Given the description of an element on the screen output the (x, y) to click on. 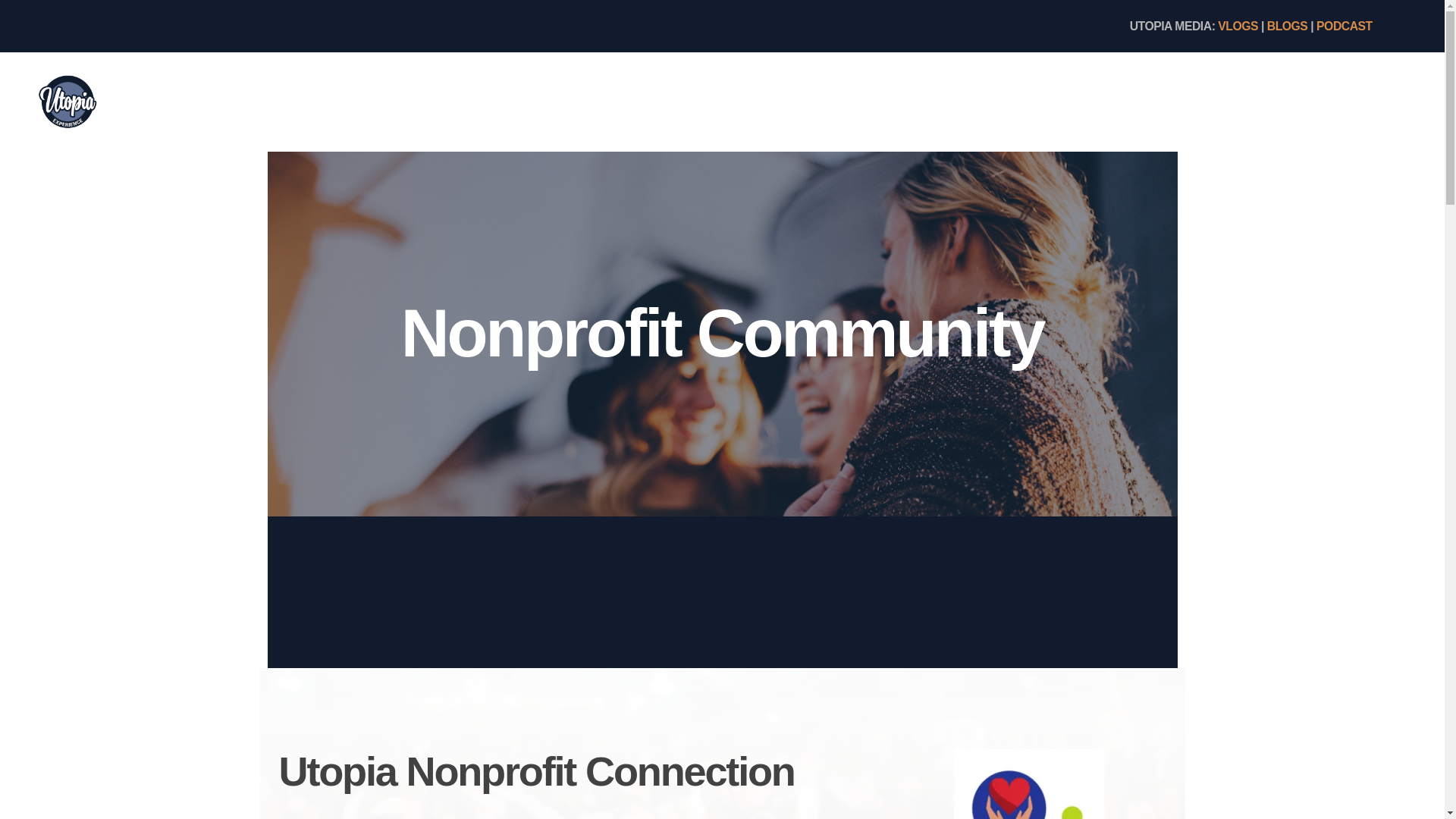
PODCAST (1344, 25)
BLOGS (1286, 25)
VLOGS (1237, 25)
